Given the description of an element on the screen output the (x, y) to click on. 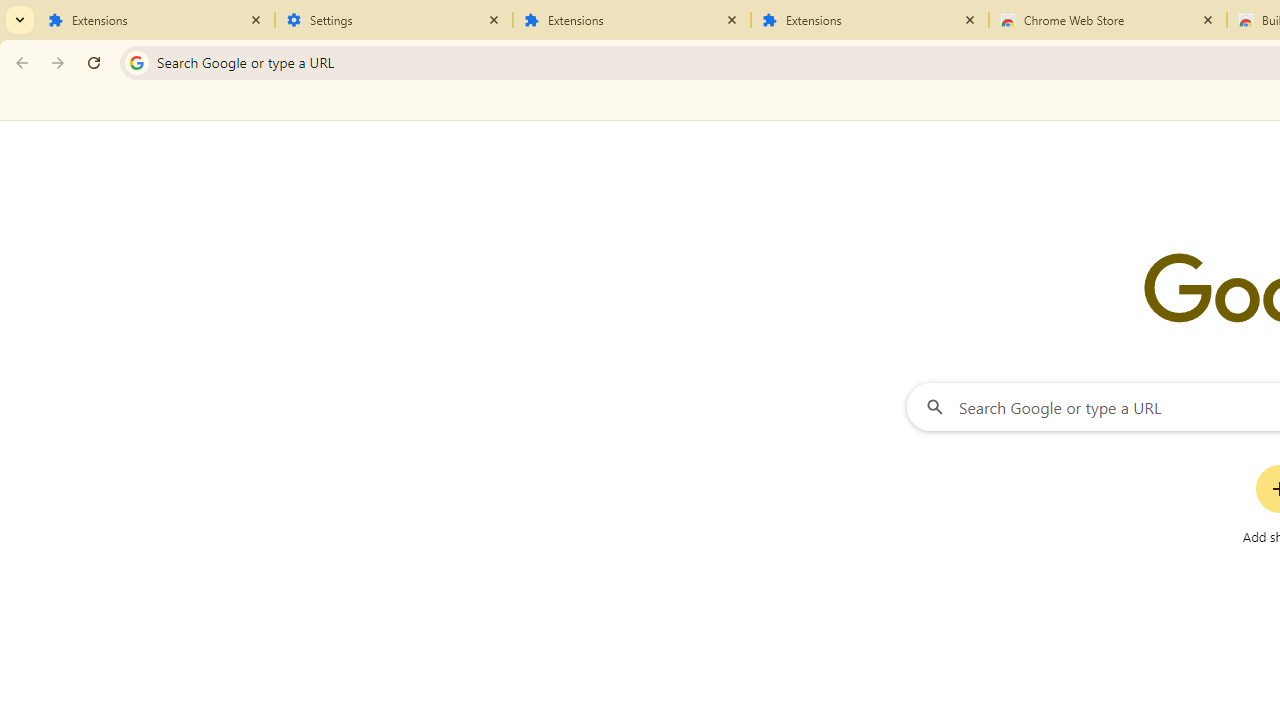
Close (1208, 19)
Settings (394, 20)
Extensions (632, 20)
Chrome Web Store (1108, 20)
Extensions (156, 20)
Reload (93, 62)
Search tabs (20, 20)
Back (19, 62)
Search icon (136, 62)
Forward (57, 62)
Extensions (870, 20)
